Given the description of an element on the screen output the (x, y) to click on. 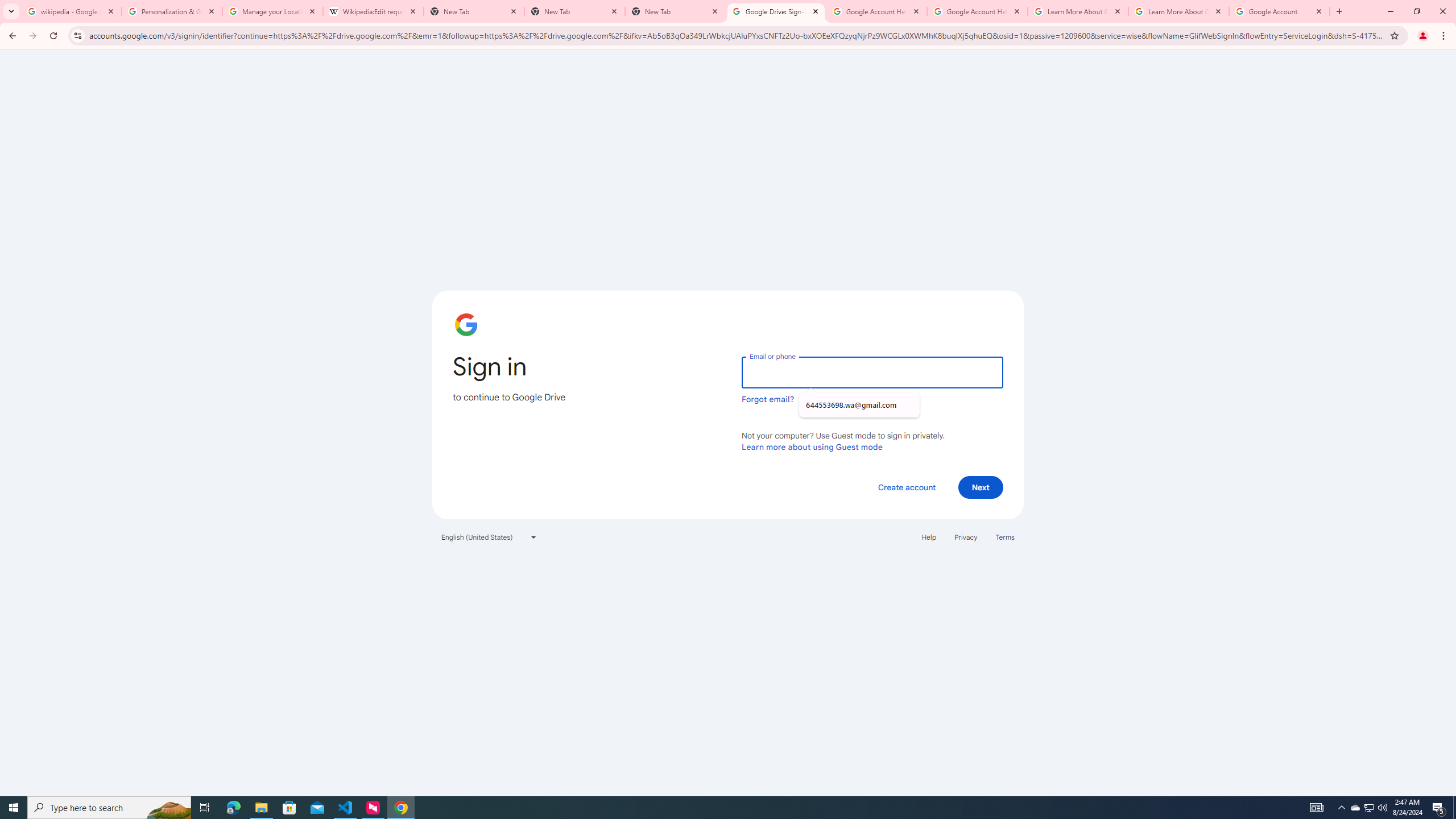
Google Account (1279, 11)
Privacy (965, 536)
644553698.wa@gmail.com (858, 404)
Google Account Help (876, 11)
New Tab (675, 11)
New Tab (574, 11)
Google Drive: Sign-in (775, 11)
Forgot email? (767, 398)
